Given the description of an element on the screen output the (x, y) to click on. 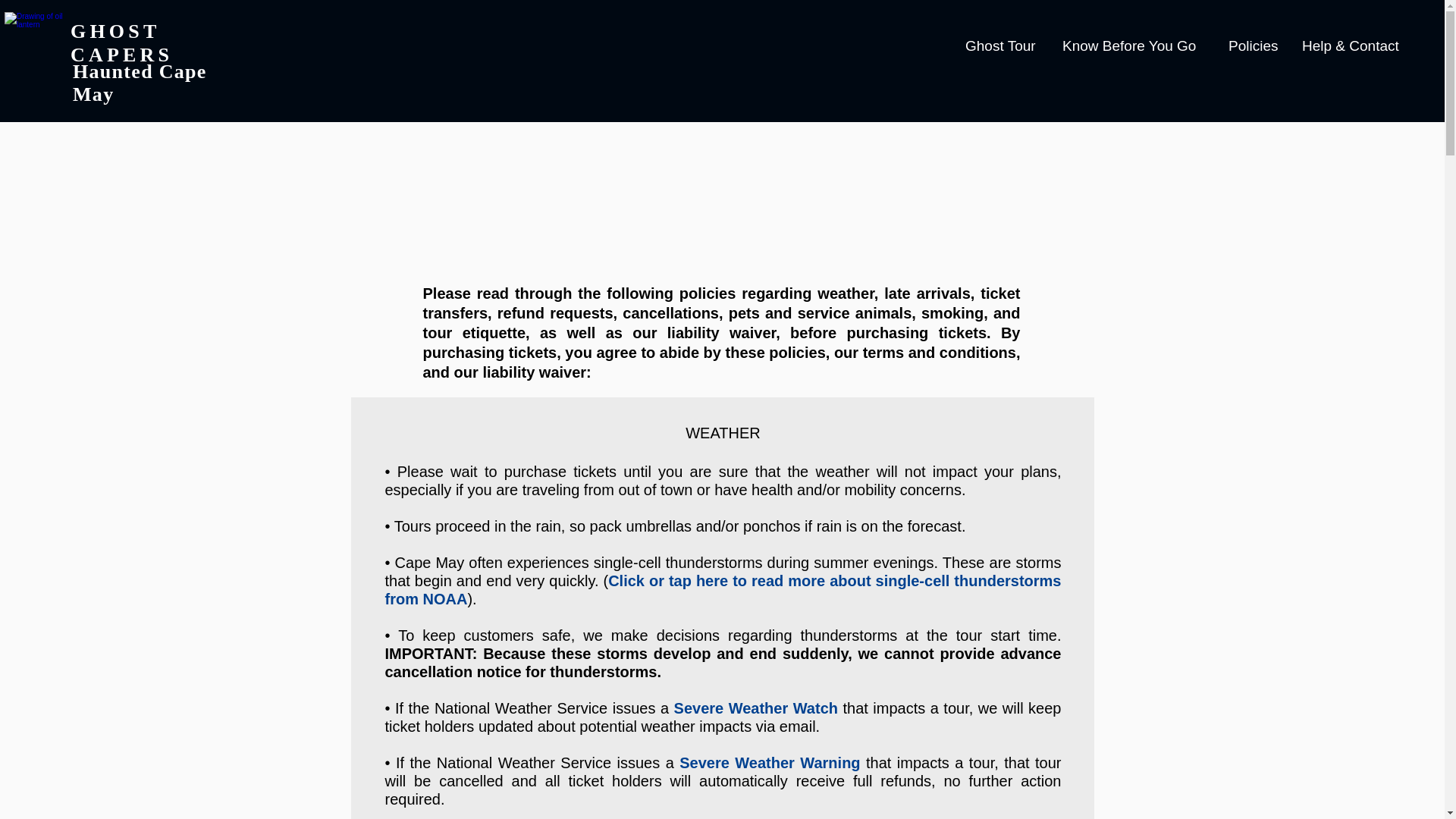
GHOST CAPERS (121, 42)
Severe Weather Watch (756, 708)
Know Before You Go (1134, 46)
Ghost Tour (1002, 46)
Policies (1253, 46)
Severe Weather Warning (769, 762)
Haunted Cape May (139, 82)
